Given the description of an element on the screen output the (x, y) to click on. 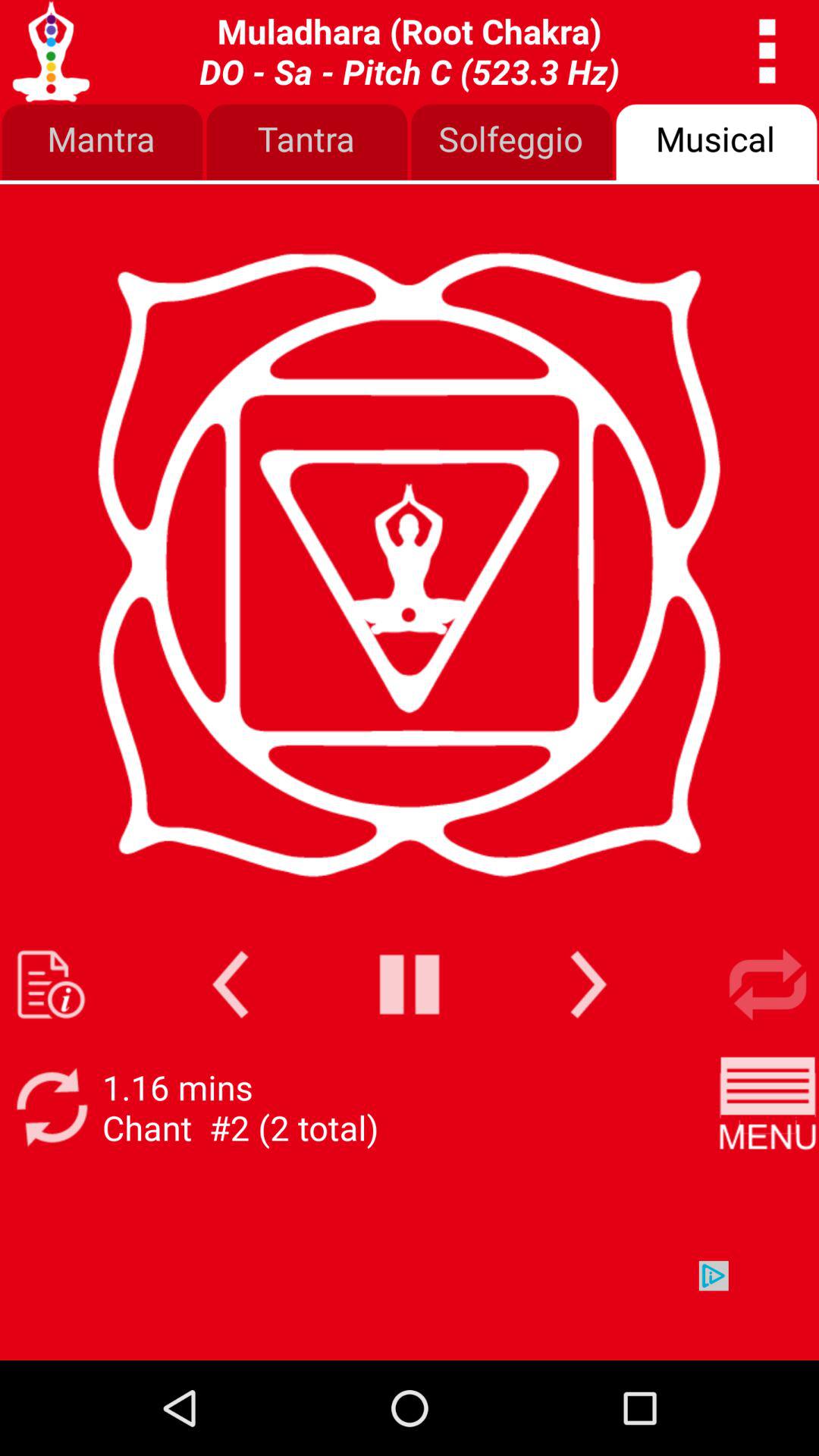
click button to the left of the solfeggio item (306, 143)
